Given the description of an element on the screen output the (x, y) to click on. 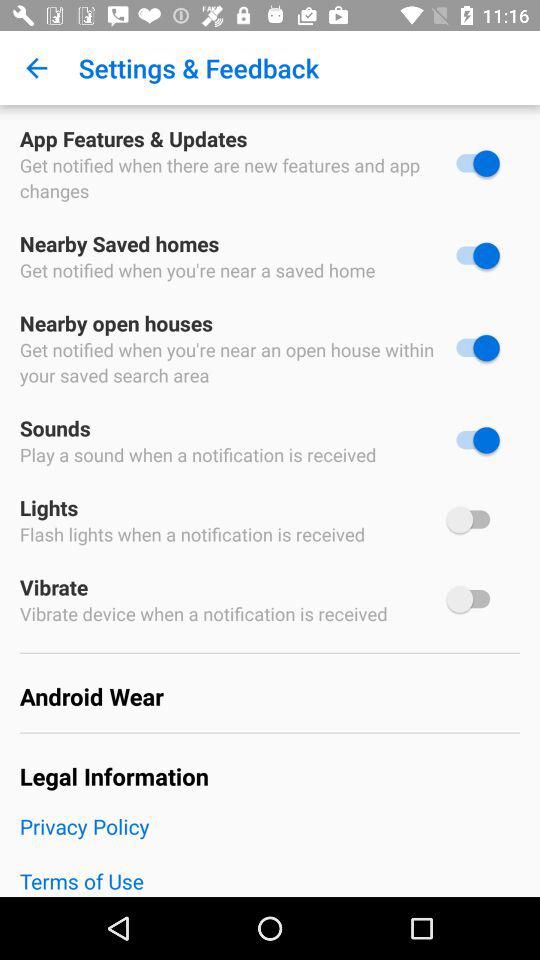
lights switch (473, 519)
